Given the description of an element on the screen output the (x, y) to click on. 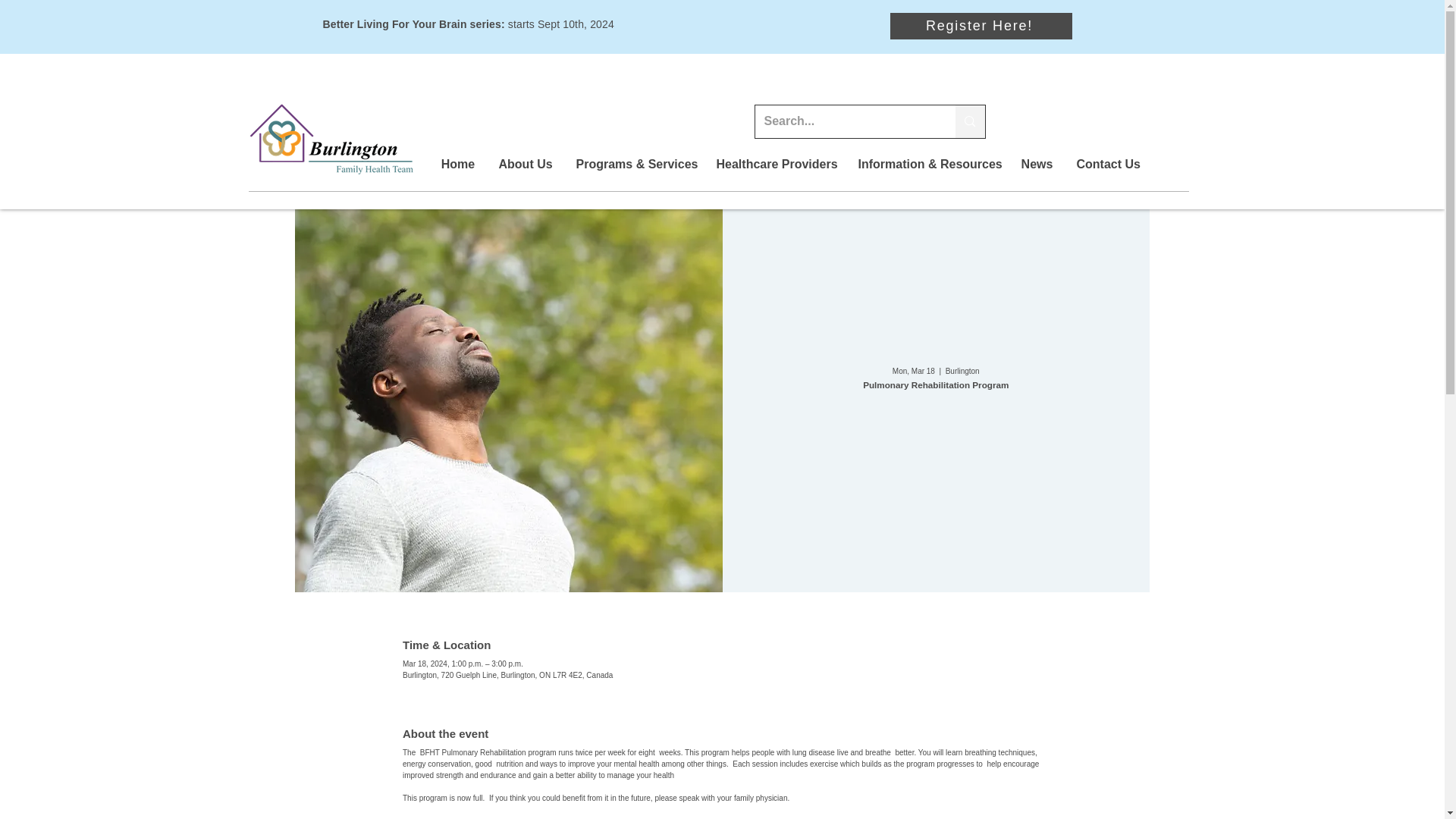
News (1036, 163)
About Us (525, 163)
Home (457, 163)
Healthcare Providers (774, 163)
Register Here! (980, 26)
Contact Us (1107, 163)
